Given the description of an element on the screen output the (x, y) to click on. 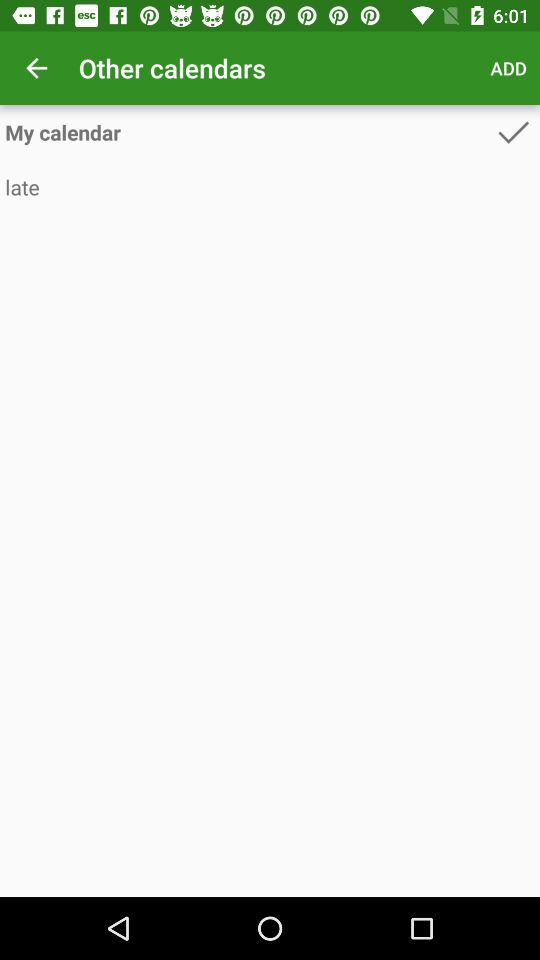
flip to add item (508, 67)
